Given the description of an element on the screen output the (x, y) to click on. 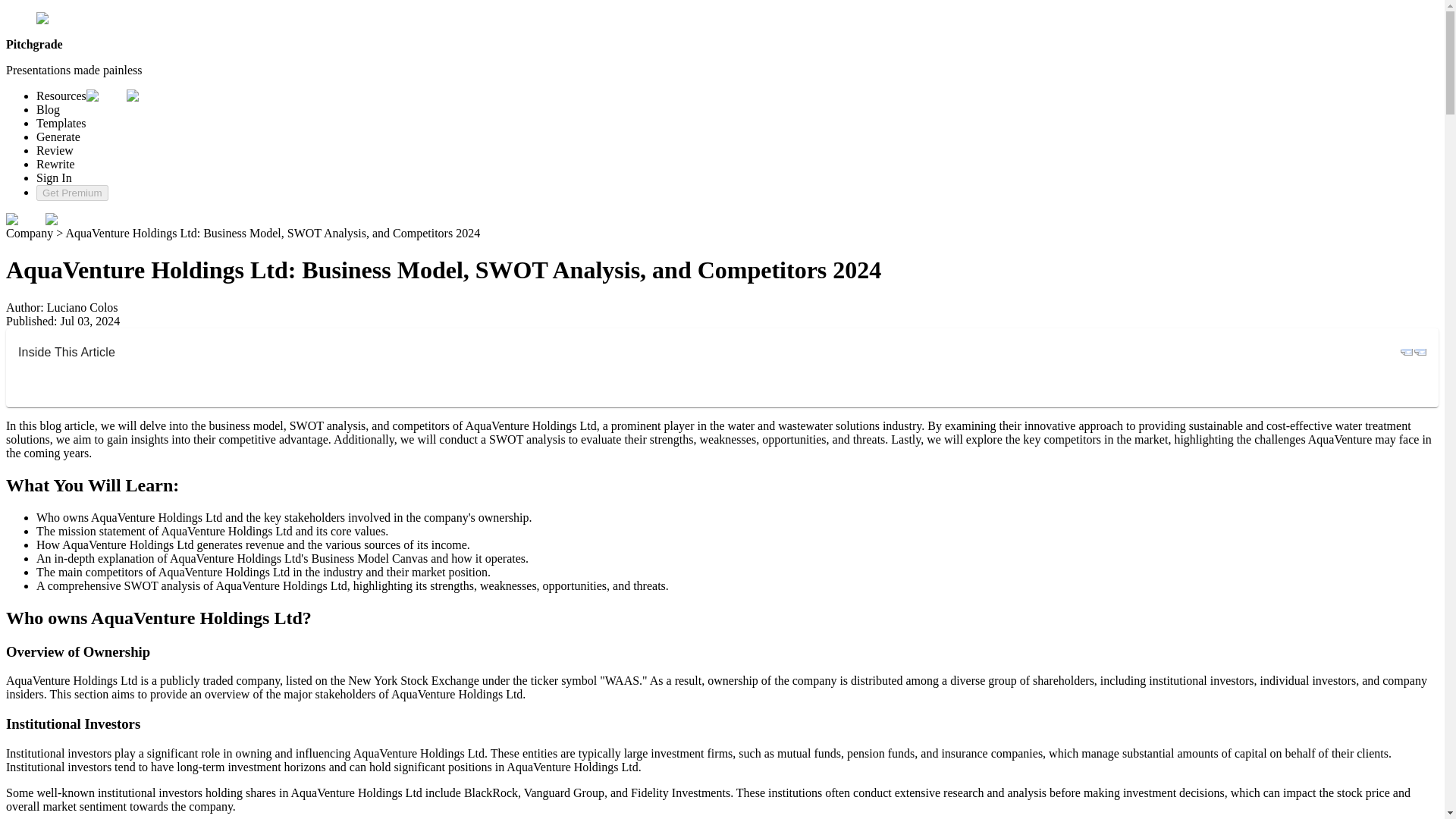
Pitchgrade (68, 18)
menu (64, 219)
menu (1419, 351)
Get Premium (71, 192)
menu (25, 219)
menu (1405, 351)
Luciano Colos (81, 307)
